Given the description of an element on the screen output the (x, y) to click on. 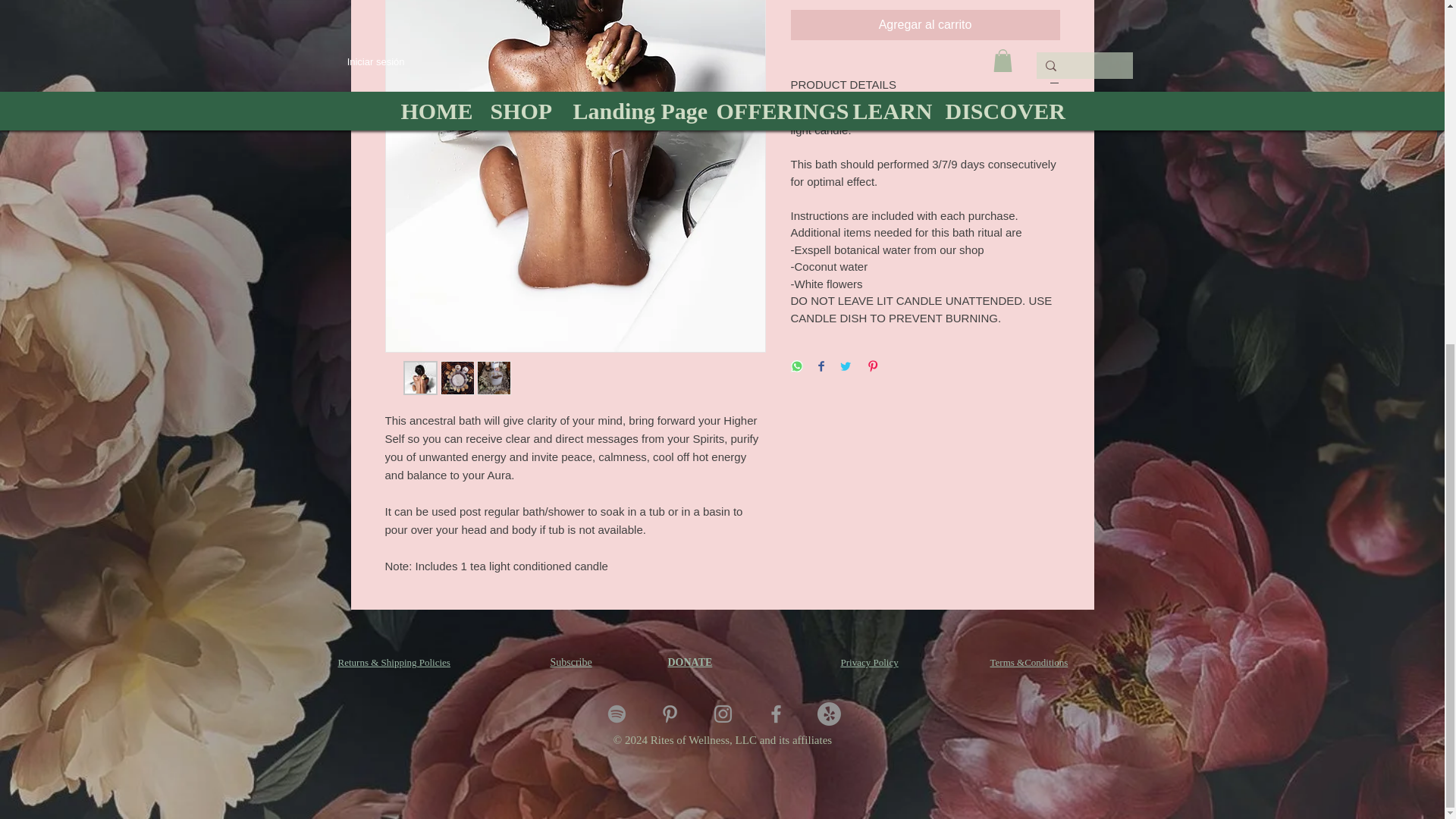
Privacy Policy (869, 662)
PRODUCT DETAILS (924, 84)
DONATE (688, 662)
Subscribe (571, 662)
Agregar al carrito (924, 24)
